Given the description of an element on the screen output the (x, y) to click on. 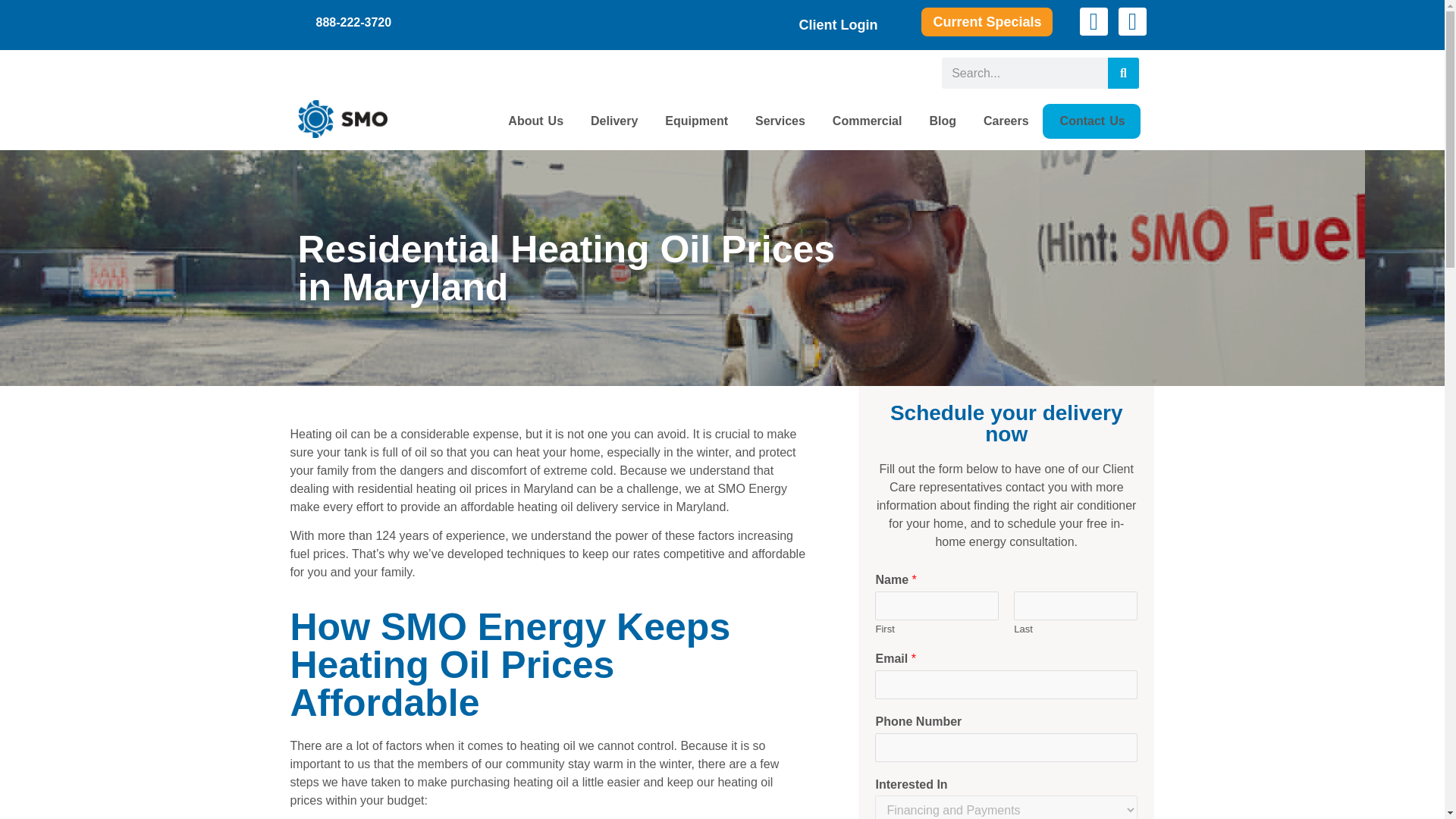
888-222-3720 (353, 22)
Client Login (838, 24)
Current Specials (986, 21)
